Given the description of an element on the screen output the (x, y) to click on. 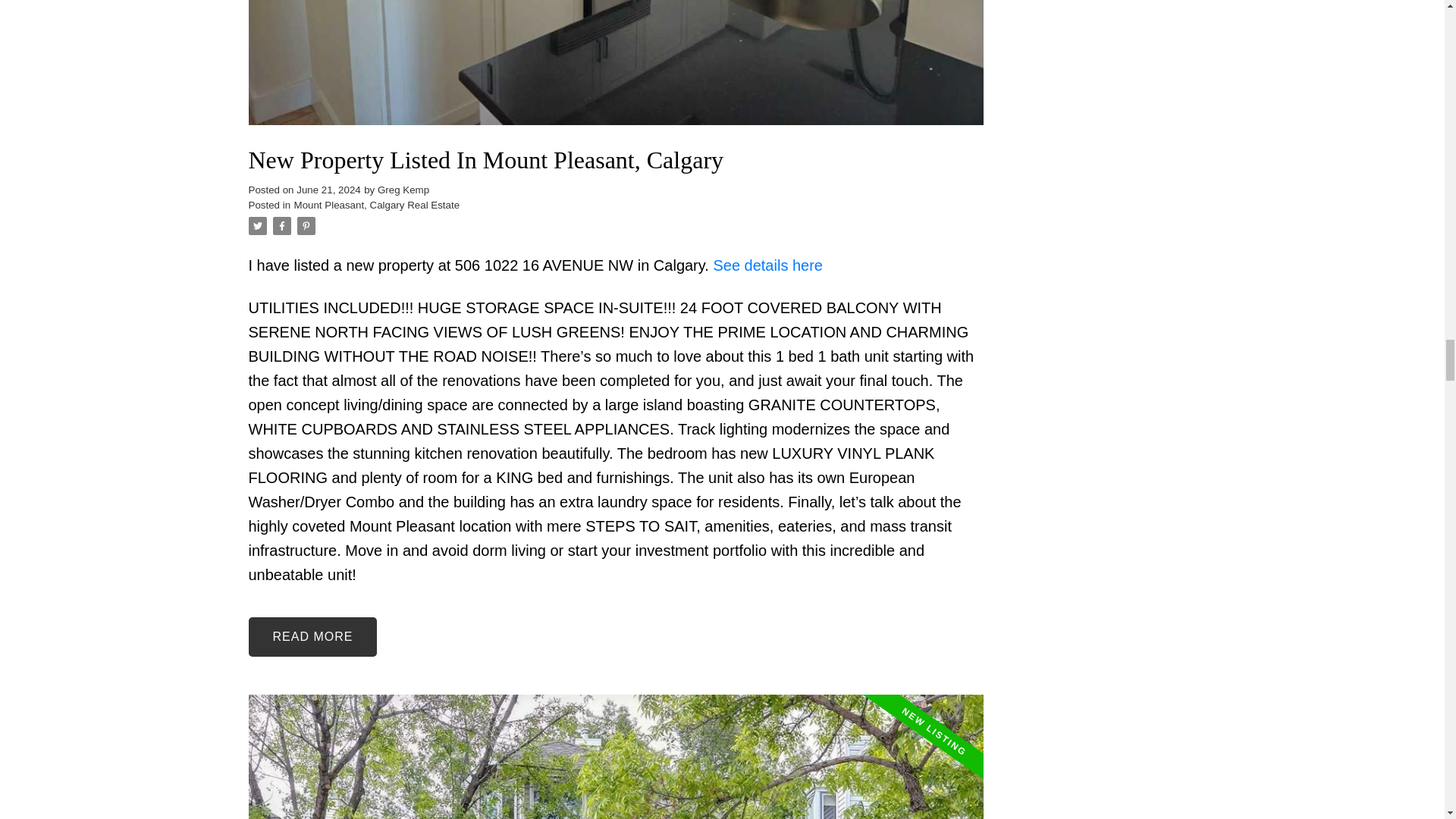
Read full post (616, 756)
Read full post (616, 71)
